Given the description of an element on the screen output the (x, y) to click on. 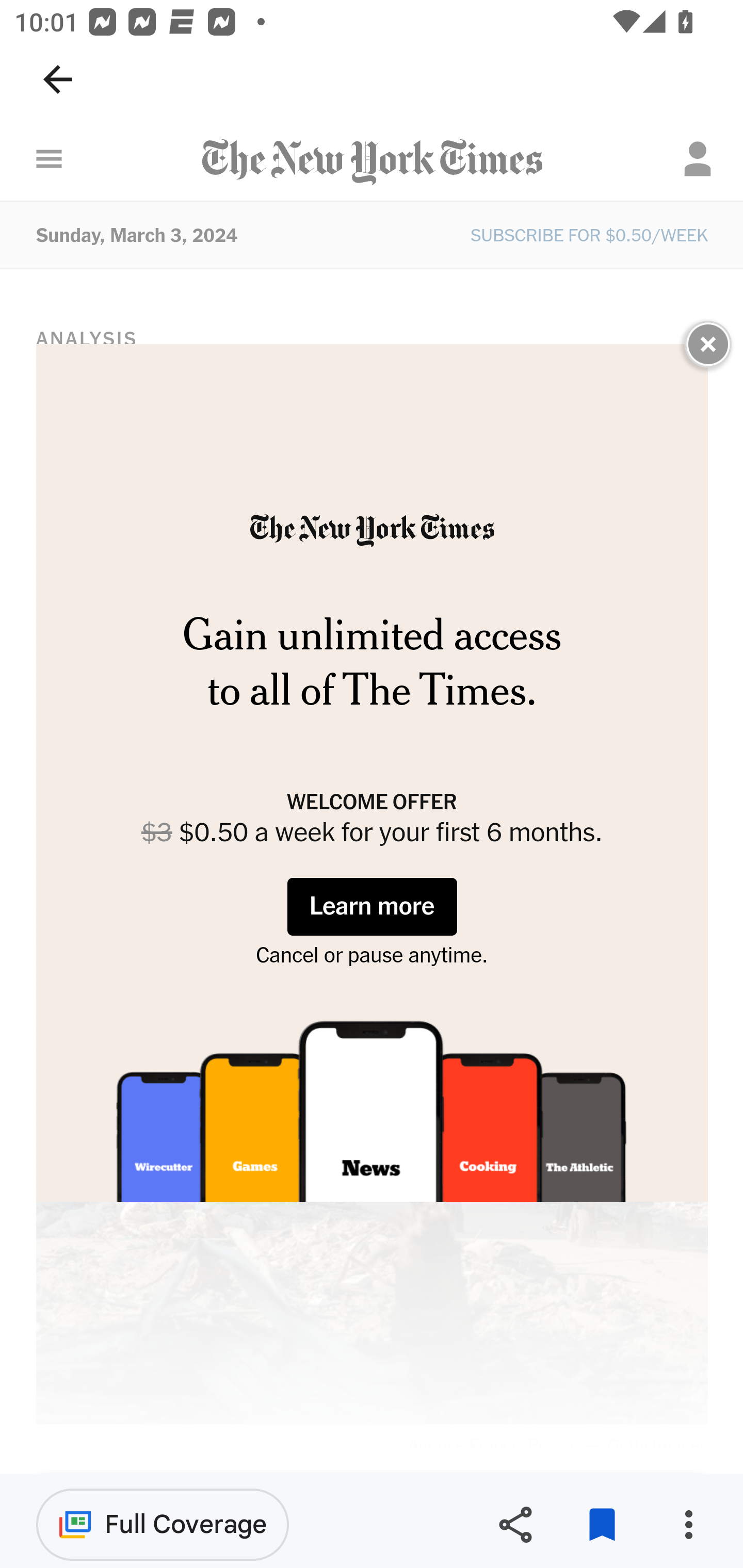
Navigate up (57, 79)
SEARCH & SECTION NAVIGATION (48, 159)
Log in (697, 159)
New York Times homepage (371, 162)
SUBSCRIBE FOR $0.50/WEEK (589, 235)
Close (707, 344)
Share (514, 1524)
Remove from saved stories (601, 1524)
More options (688, 1524)
Full Coverage (162, 1524)
